Given the description of an element on the screen output the (x, y) to click on. 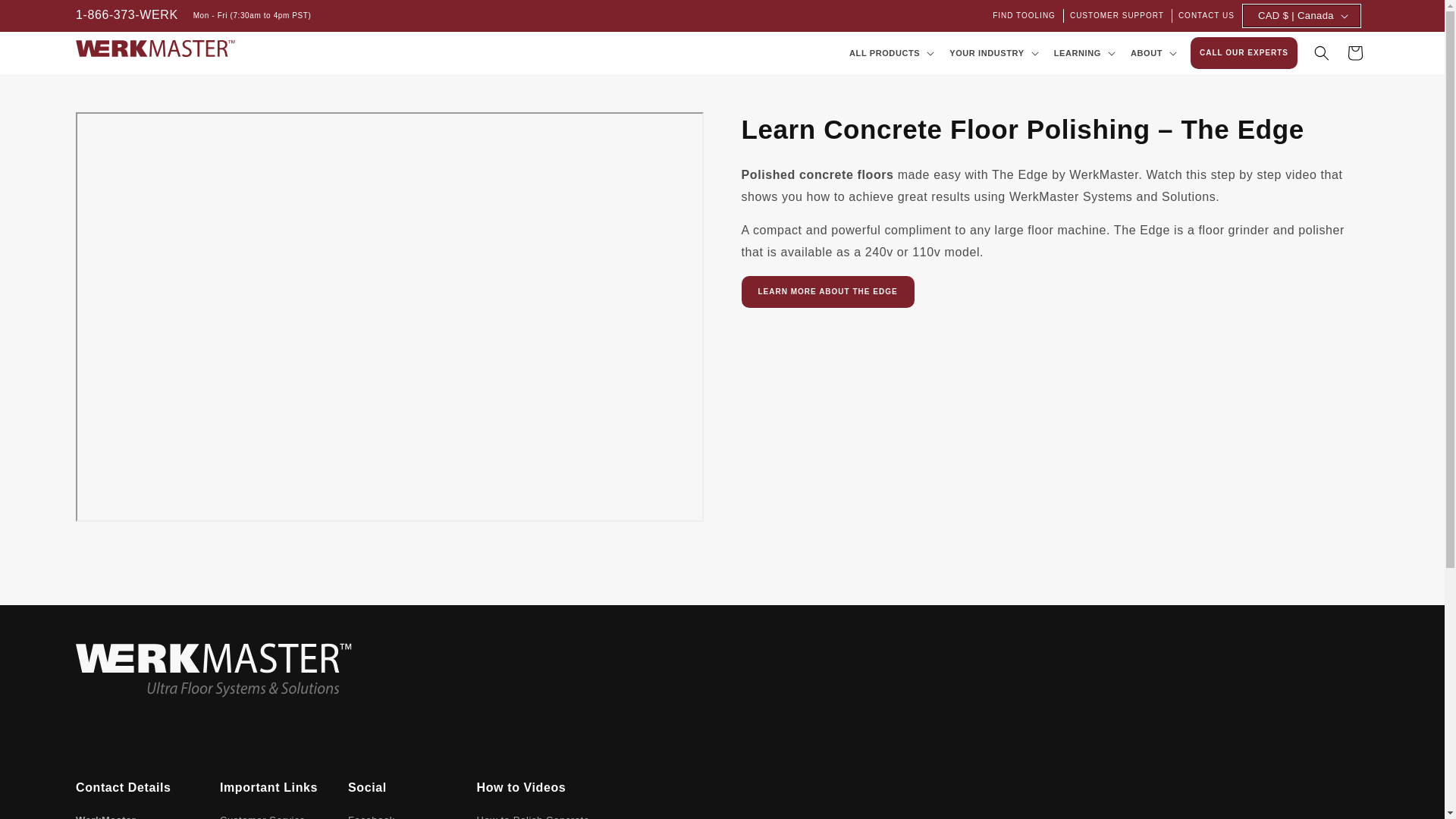
Skip to content (45, 17)
CUSTOMER SUPPORT (1118, 15)
CONTACT US (1206, 15)
Customer Service (262, 816)
How To Polish Concrete (533, 816)
1-866-373-WERK (126, 15)
FIND TOOLING (1025, 15)
